Given the description of an element on the screen output the (x, y) to click on. 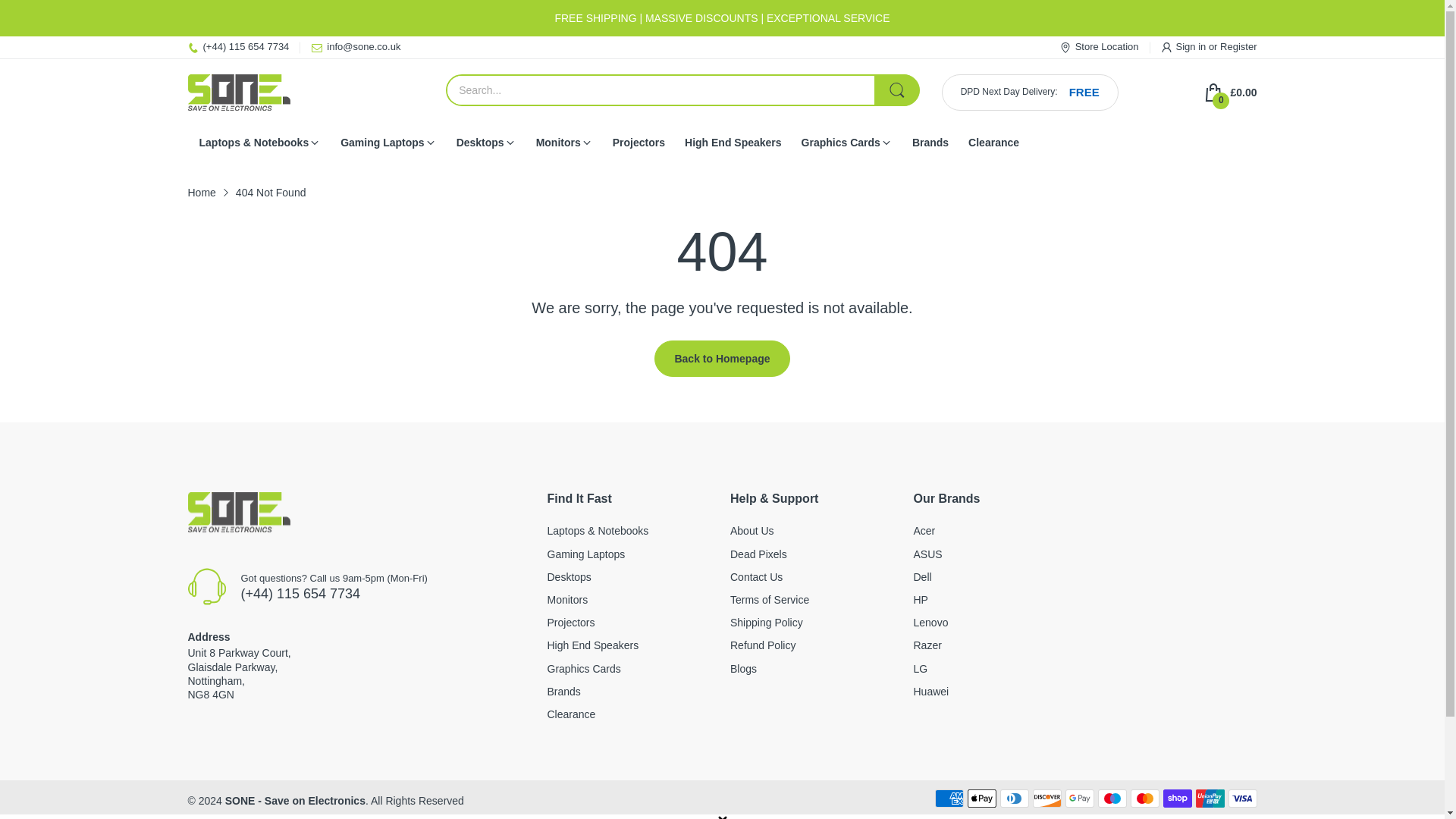
Contact Us (756, 576)
Gaming Laptops (586, 553)
Desktops (569, 576)
Graphics Cards (584, 668)
Clearance (993, 142)
About Us (752, 530)
High End Speakers (732, 142)
Home (201, 192)
Sign in (1192, 46)
Graphics Cards (841, 142)
Clearance (571, 714)
Register (1238, 46)
Gaming Laptops (381, 142)
Projectors (571, 622)
Brands (930, 142)
